Given the description of an element on the screen output the (x, y) to click on. 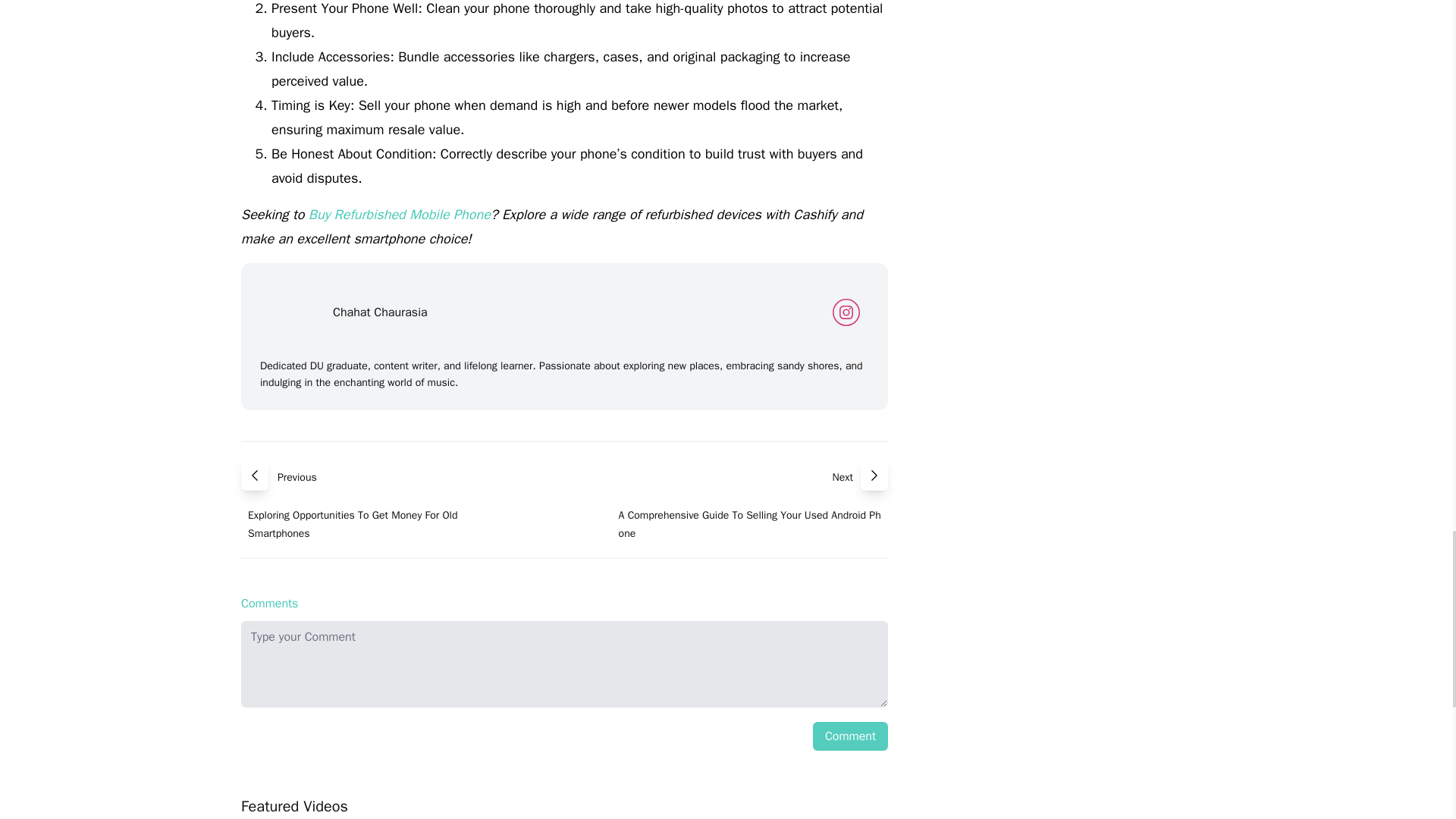
Buy Refurbished Mobile Phone (399, 214)
Comment (850, 736)
Previous (297, 473)
A Comprehensive Guide To Selling Your Used Android Phone (753, 524)
Next (846, 473)
Exploring Opportunities To Get Money For Old Smartphones (376, 524)
